Given the description of an element on the screen output the (x, y) to click on. 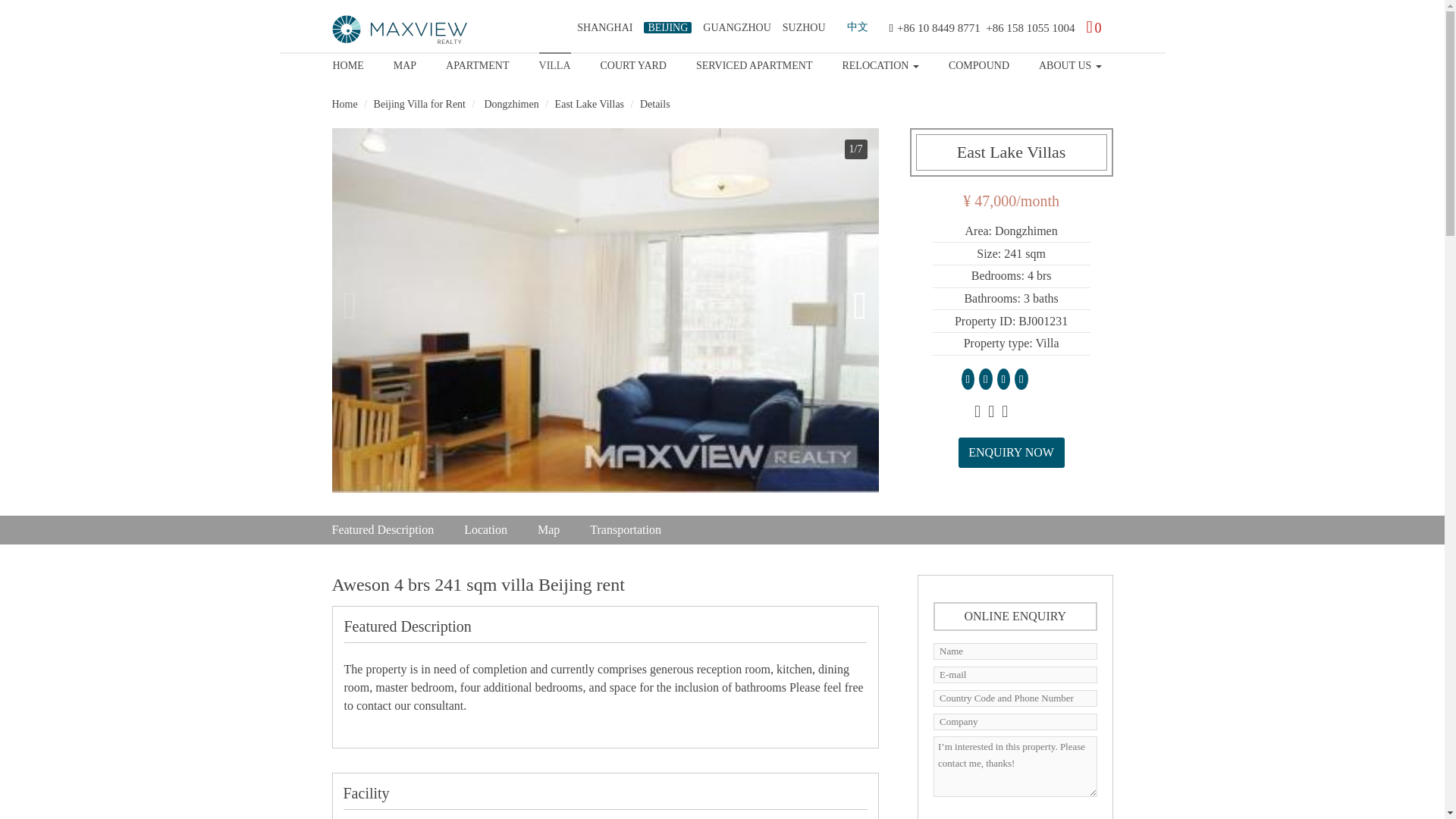
COMPOUND (979, 62)
Beijing Relocation (879, 62)
Serviced apartments (753, 62)
ABOUT US (1070, 62)
VILLA (554, 62)
Guangzhou (736, 27)
Home (346, 62)
Apartments (476, 62)
HOME (346, 62)
Property map (404, 62)
LOGO MAX (399, 29)
SHANGHAI (603, 27)
Shanghai (603, 27)
MAP (404, 62)
Court yard (632, 62)
